Given the description of an element on the screen output the (x, y) to click on. 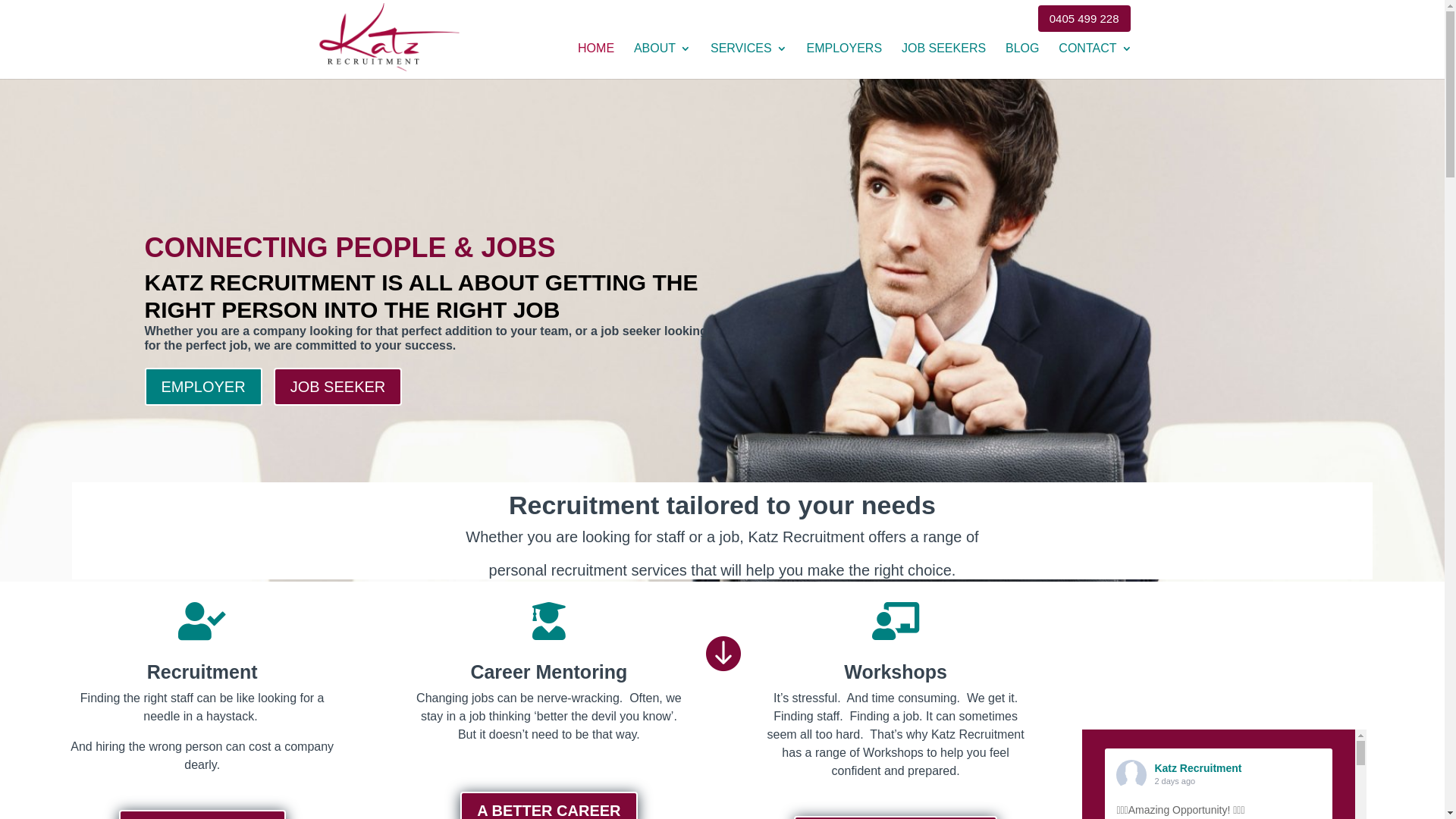
BLOG Element type: text (1021, 60)
EMPLOYER Element type: text (202, 386)
SERVICES Element type: text (748, 60)
JOB SEEKERS Element type: text (943, 60)
Career Mentoring Element type: text (548, 671)
CONTACT Element type: text (1094, 60)
Katz Recruitment Element type: text (1197, 768)
0405 499 228 Element type: text (1084, 21)
HOME Element type: text (595, 60)
ABOUT Element type: text (661, 60)
EMPLOYERS Element type: text (843, 60)
Recruitment Element type: text (202, 671)
JOB SEEKER Element type: text (337, 386)
Workshops Element type: text (895, 671)
